Given the description of an element on the screen output the (x, y) to click on. 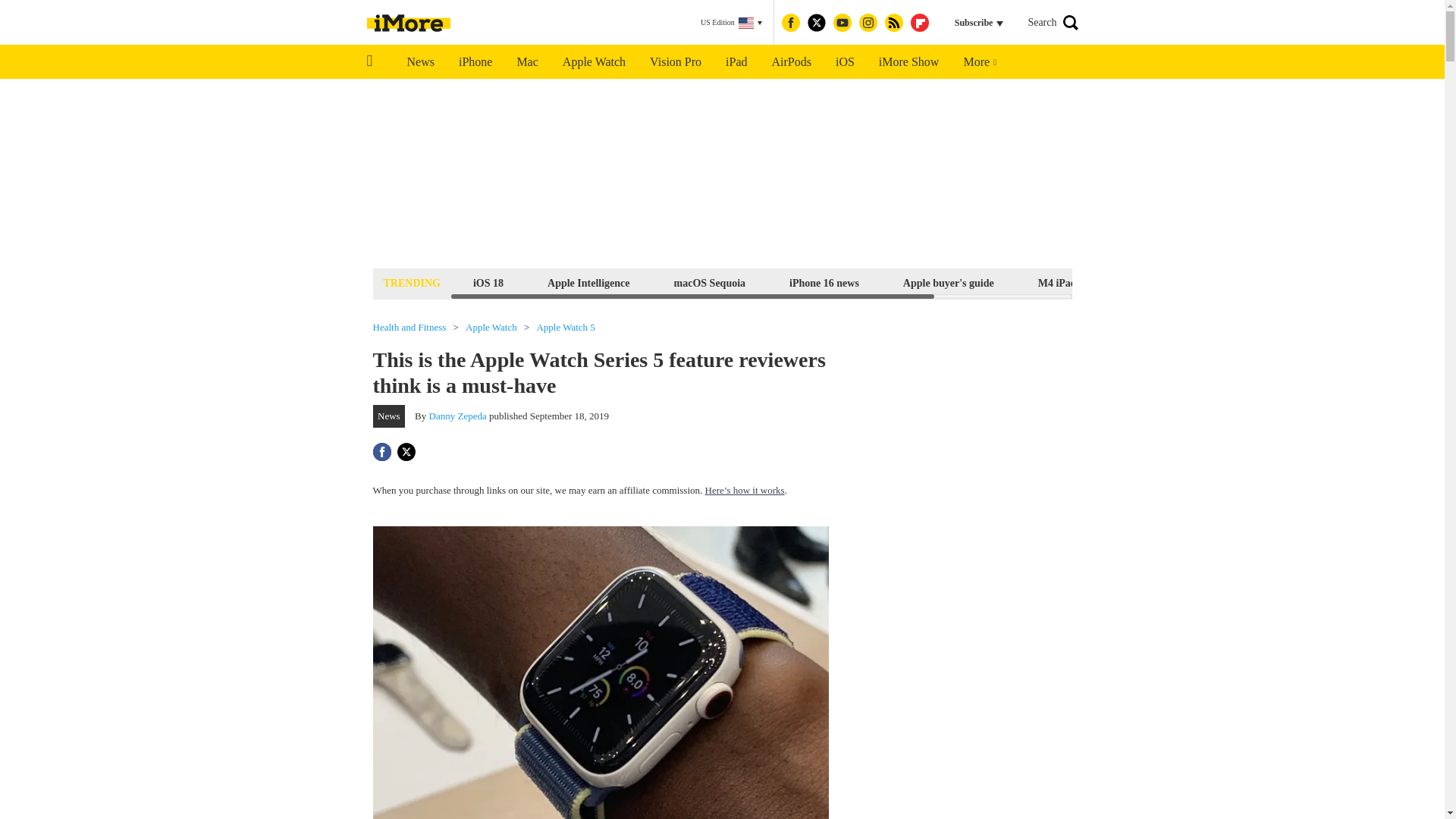
iOS (845, 61)
Mac (526, 61)
AirPods (792, 61)
Apple Watch (593, 61)
iPad (735, 61)
iPhone (474, 61)
iMore Show (909, 61)
Vision Pro (675, 61)
News (419, 61)
US Edition (731, 22)
